Given the description of an element on the screen output the (x, y) to click on. 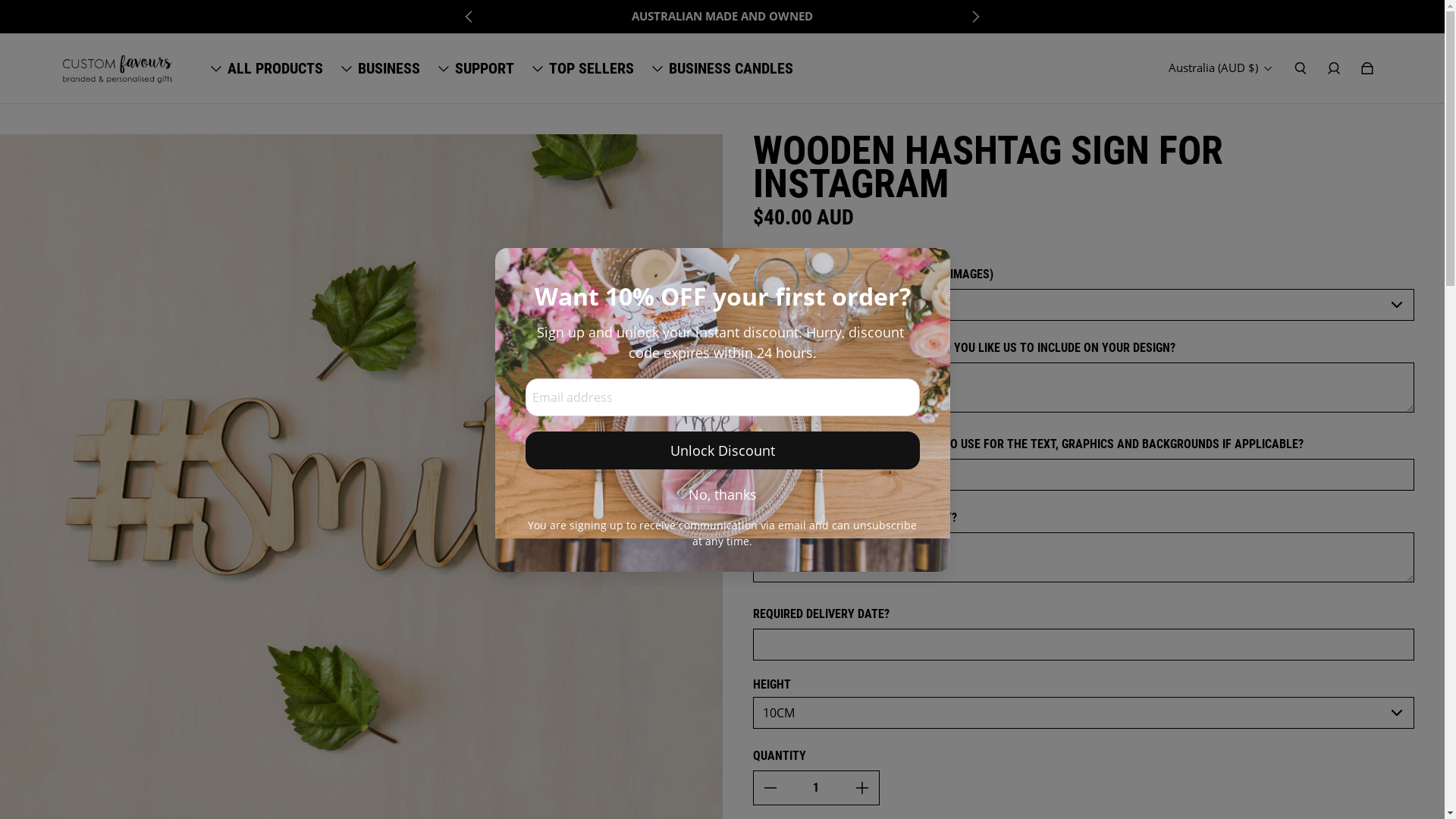
Australia (AUD $) Element type: text (1219, 67)
BUSINESS CANDLES Element type: text (730, 67)
TOP SELLERS Element type: text (591, 67)
SUPPORT Element type: text (484, 67)
ALL PRODUCTS Element type: text (275, 67)
BUSINESS Element type: text (388, 67)
